Given the description of an element on the screen output the (x, y) to click on. 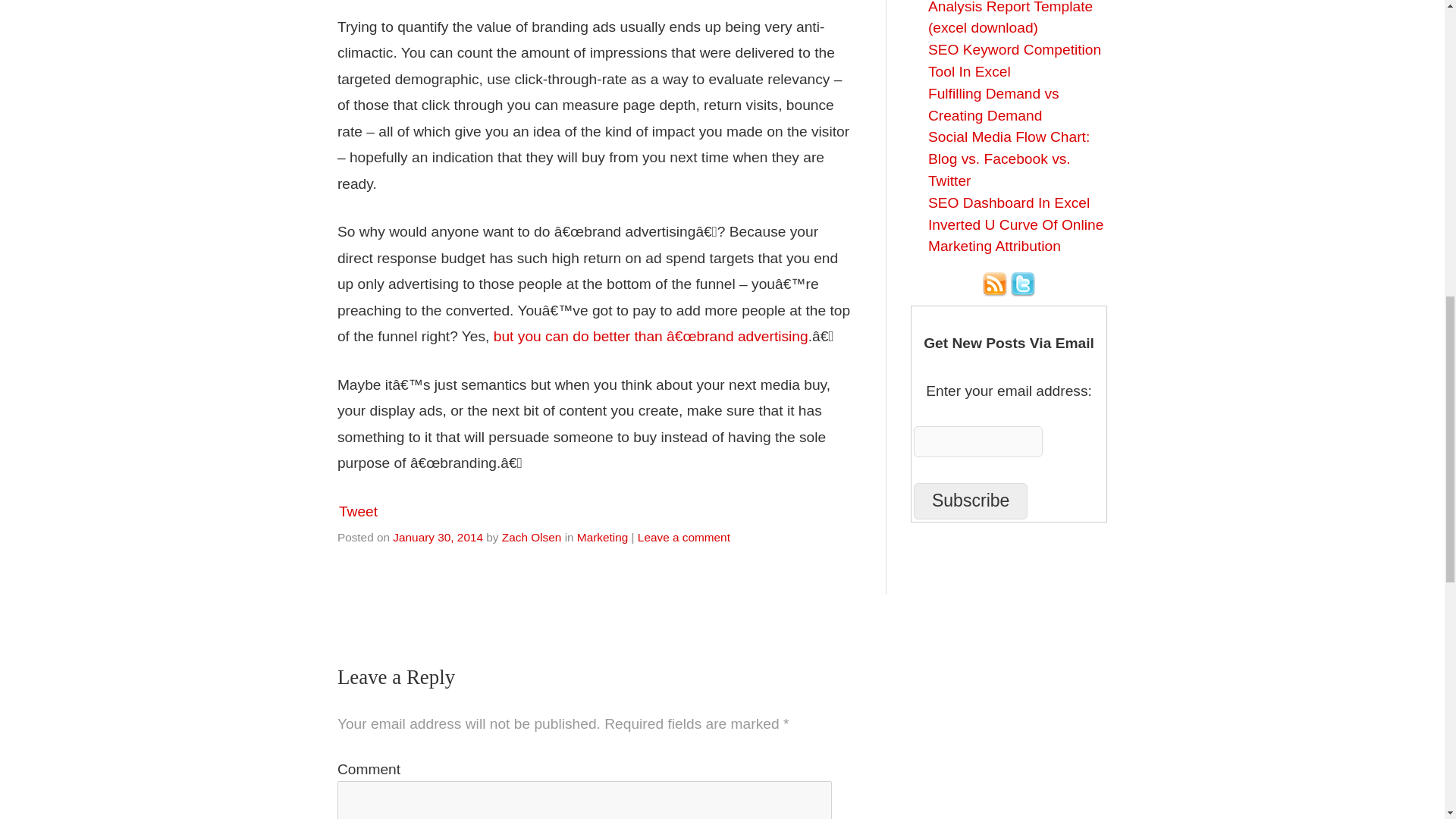
Marketing (601, 536)
SEO Keyword Competition Tool In Excel (1014, 60)
SEO Keyword Competition Tool In Excel (1014, 60)
January 30, 2014 (438, 536)
Social Media Flow Chart: Blog vs. Facebook vs. Twitter (1008, 158)
Zach Olsen (532, 536)
Leave a comment (683, 536)
3:08 pm (438, 536)
SEO Dashboard In Excel (1008, 202)
Subscribe (970, 500)
View all posts by Zach Olsen (532, 536)
Inverted U Curve Of Online Marketing Attribution (1015, 235)
Fulfilling Demand vs Creating Demand (993, 104)
Social Media Flow Chart: Blog vs. Facebook vs. Twitter (1008, 158)
Inverted U Curve Of Online Marketing Attribution (1015, 235)
